Given the description of an element on the screen output the (x, y) to click on. 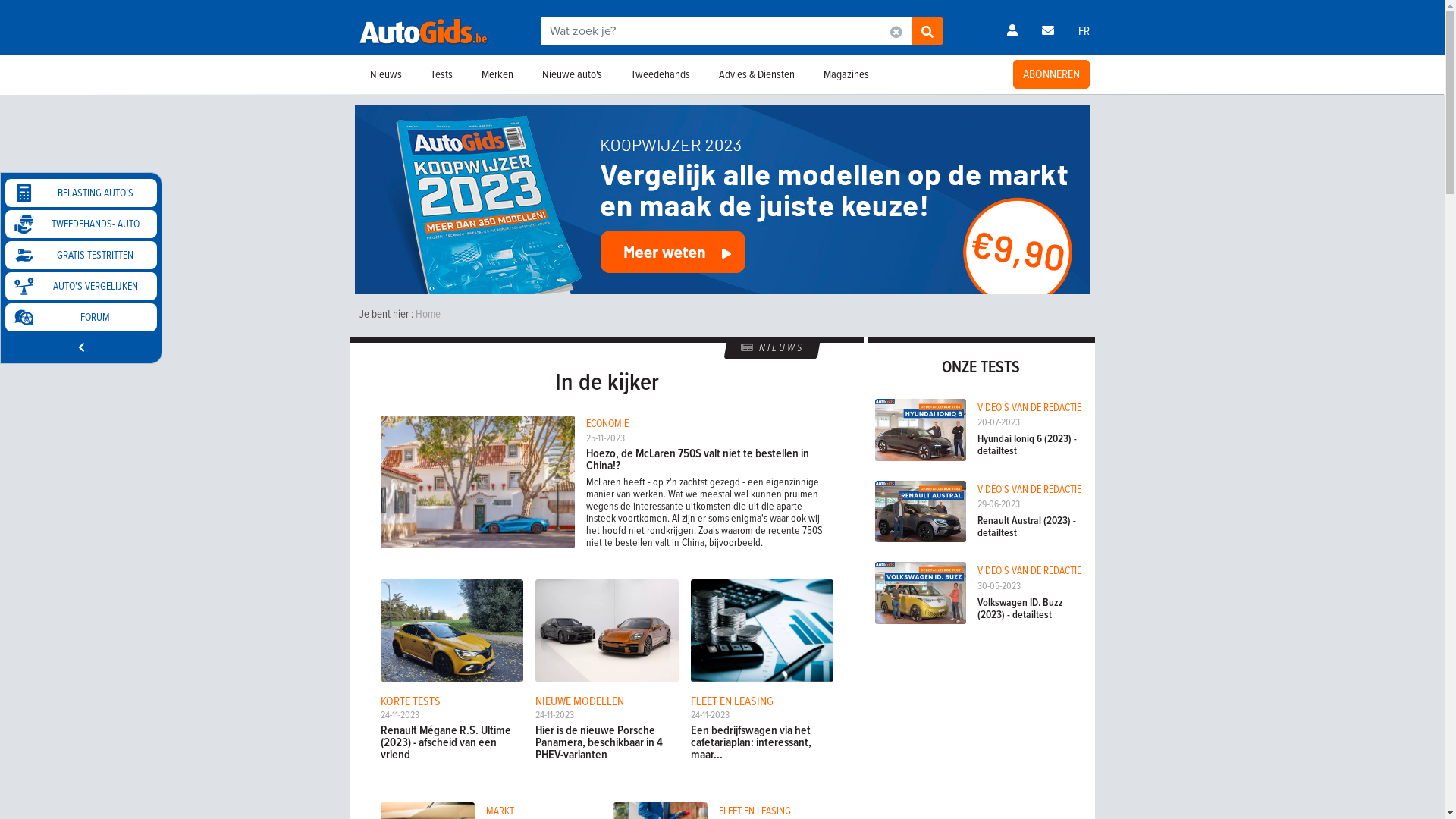
3rd party ad content Element type: hover (606, 789)
3rd party ad content Element type: hover (1105, 104)
Nieuws Element type: text (384, 74)
Nieuwe auto's Element type: text (571, 74)
GRATIS TESTRITTEN Element type: text (80, 255)
Magazines Element type: text (845, 74)
Merken Element type: text (497, 74)
NIEUWS Element type: text (771, 347)
Home Element type: text (425, 313)
3rd party ad content Element type: hover (722, 199)
TWEEDEHANDS- AUTO Element type: text (80, 224)
Tweedehands Element type: text (659, 74)
AUTO'S VERGELIJKEN Element type: text (80, 286)
Advies & Diensten Element type: text (755, 74)
3rd party ad content Element type: hover (980, 335)
FORUM Element type: text (80, 317)
FR Element type: text (1083, 31)
Tests Element type: text (440, 74)
ABONNEREN Element type: text (1051, 73)
3rd party ad content Element type: hover (980, 639)
